Given the description of an element on the screen output the (x, y) to click on. 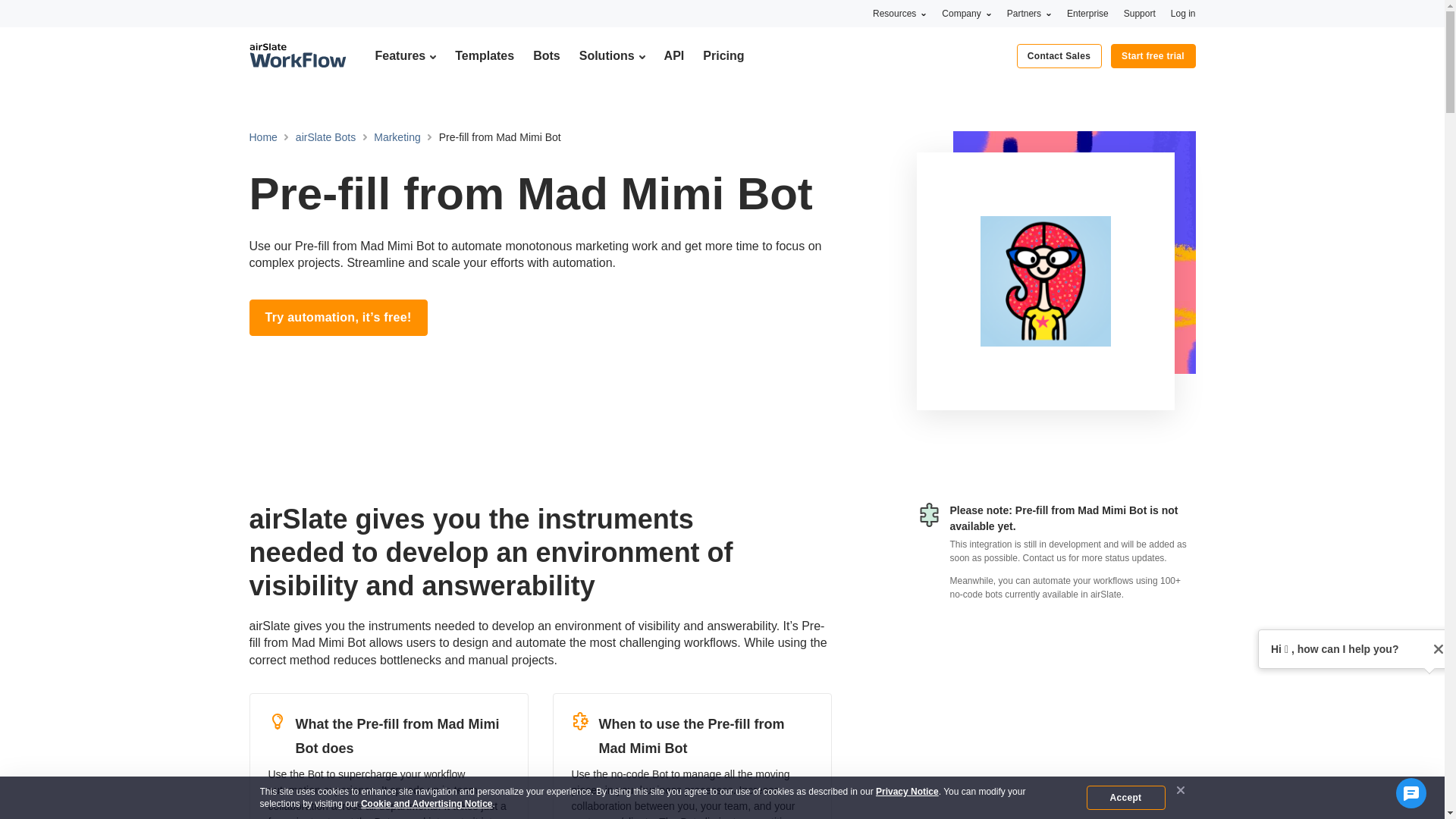
Enterprise (1087, 13)
Resources (899, 13)
Log in (1182, 13)
Templates (483, 55)
Company (966, 13)
Partners (1029, 13)
Support (1140, 13)
